Given the description of an element on the screen output the (x, y) to click on. 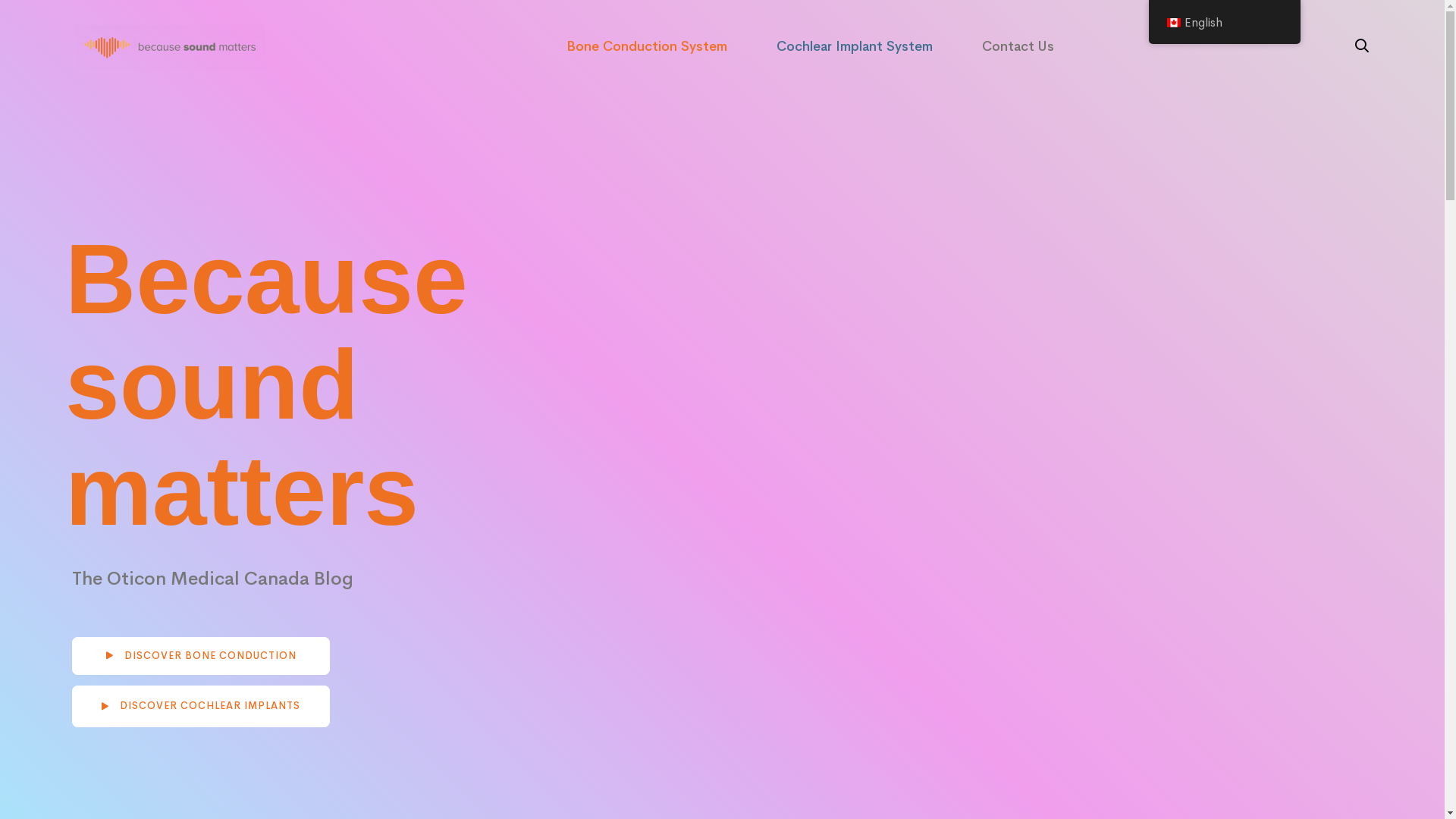
Bone Conduction System Element type: text (646, 46)
DISCOVER BONE CONDUCTION Element type: text (200, 655)
DISCOVER COCHLEAR IMPLANTS Element type: text (200, 706)
English Element type: text (1223, 22)
Contact Us Element type: text (1017, 46)
English Element type: text (1223, 21)
Cochlear Implant System Element type: text (854, 46)
English Element type: hover (1172, 22)
